Given the description of an element on the screen output the (x, y) to click on. 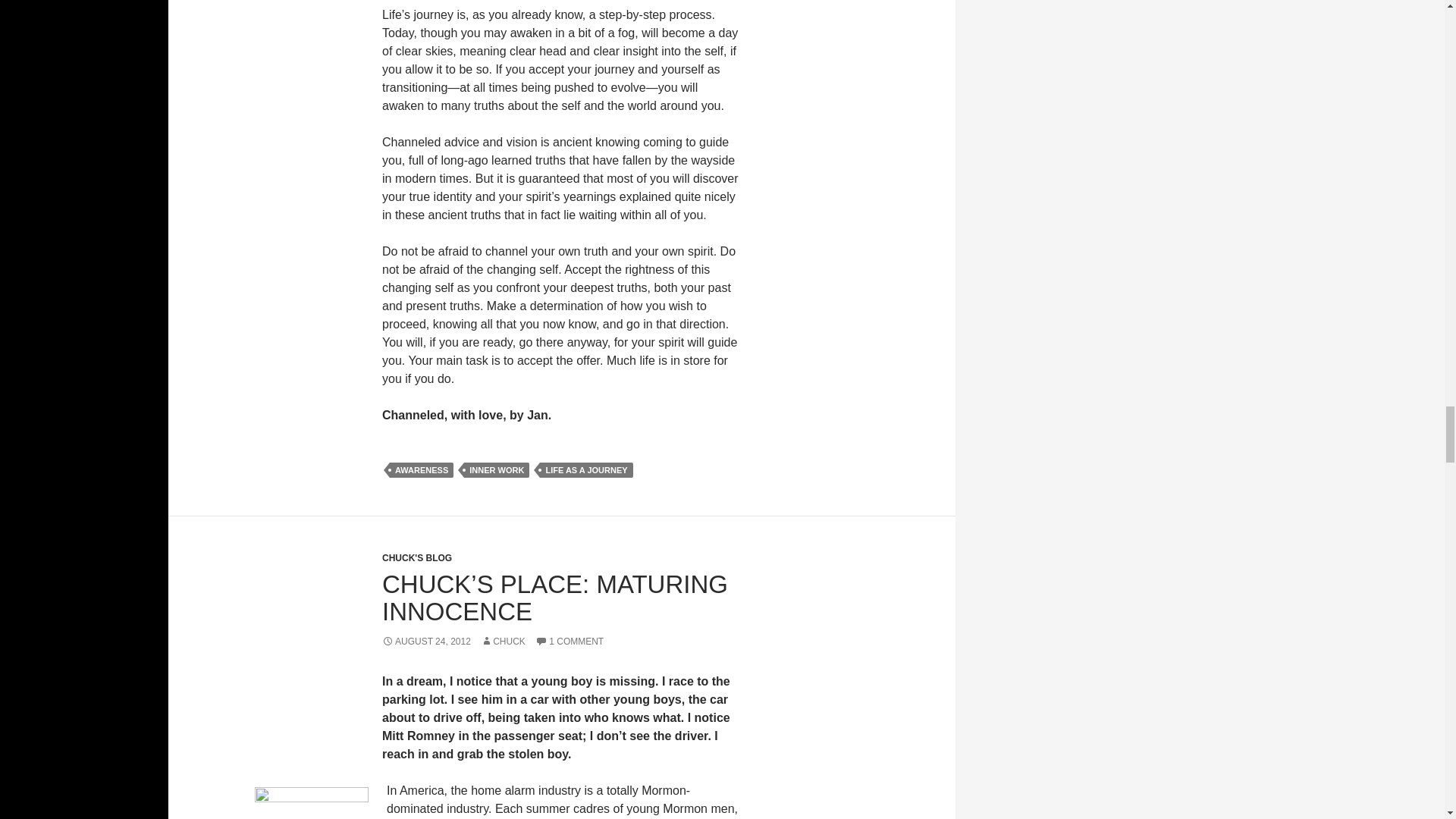
Photo by Jan (311, 803)
